Given the description of an element on the screen output the (x, y) to click on. 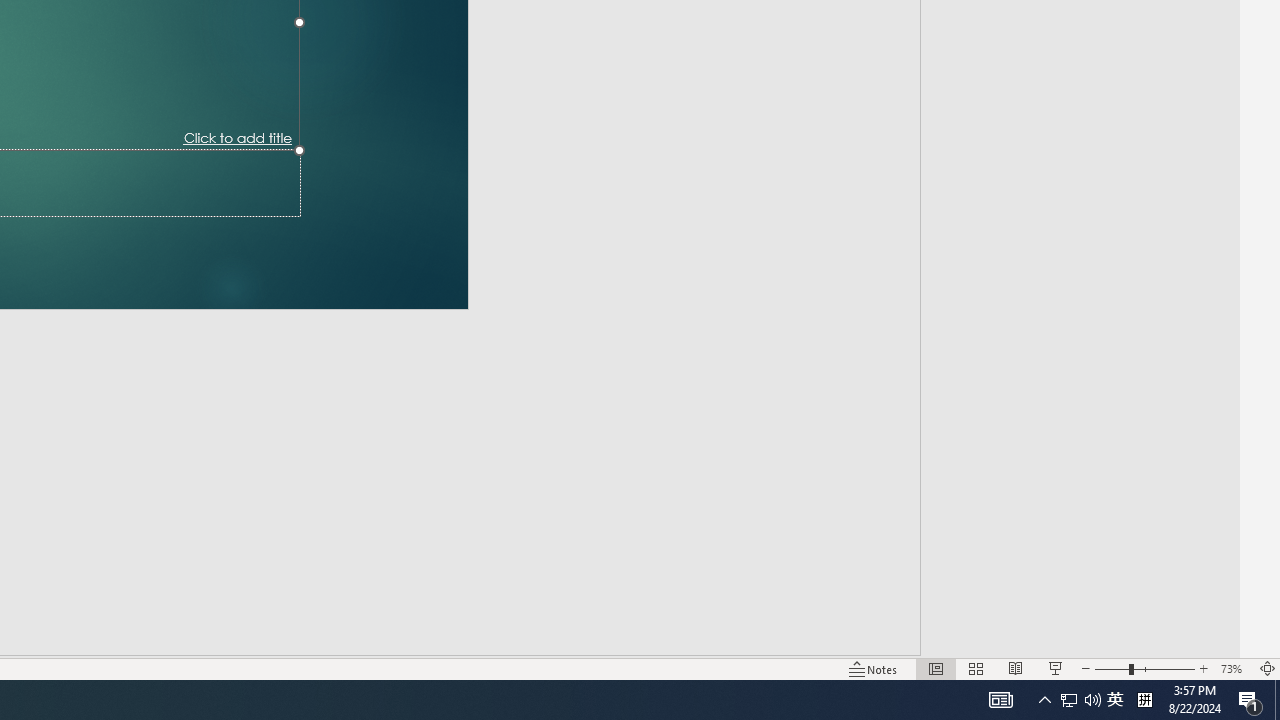
AutomationID: 4105 (1000, 699)
User Promoted Notification Area (1080, 699)
Notification Chevron (1044, 699)
Zoom (1144, 668)
Notes  (1069, 699)
Q2790: 100% (874, 668)
Normal (1092, 699)
Action Center, 1 new notification (936, 668)
Slide Show (1115, 699)
Zoom to Fit  (1250, 699)
Show desktop (1055, 668)
Zoom Out (1267, 668)
